Given the description of an element on the screen output the (x, y) to click on. 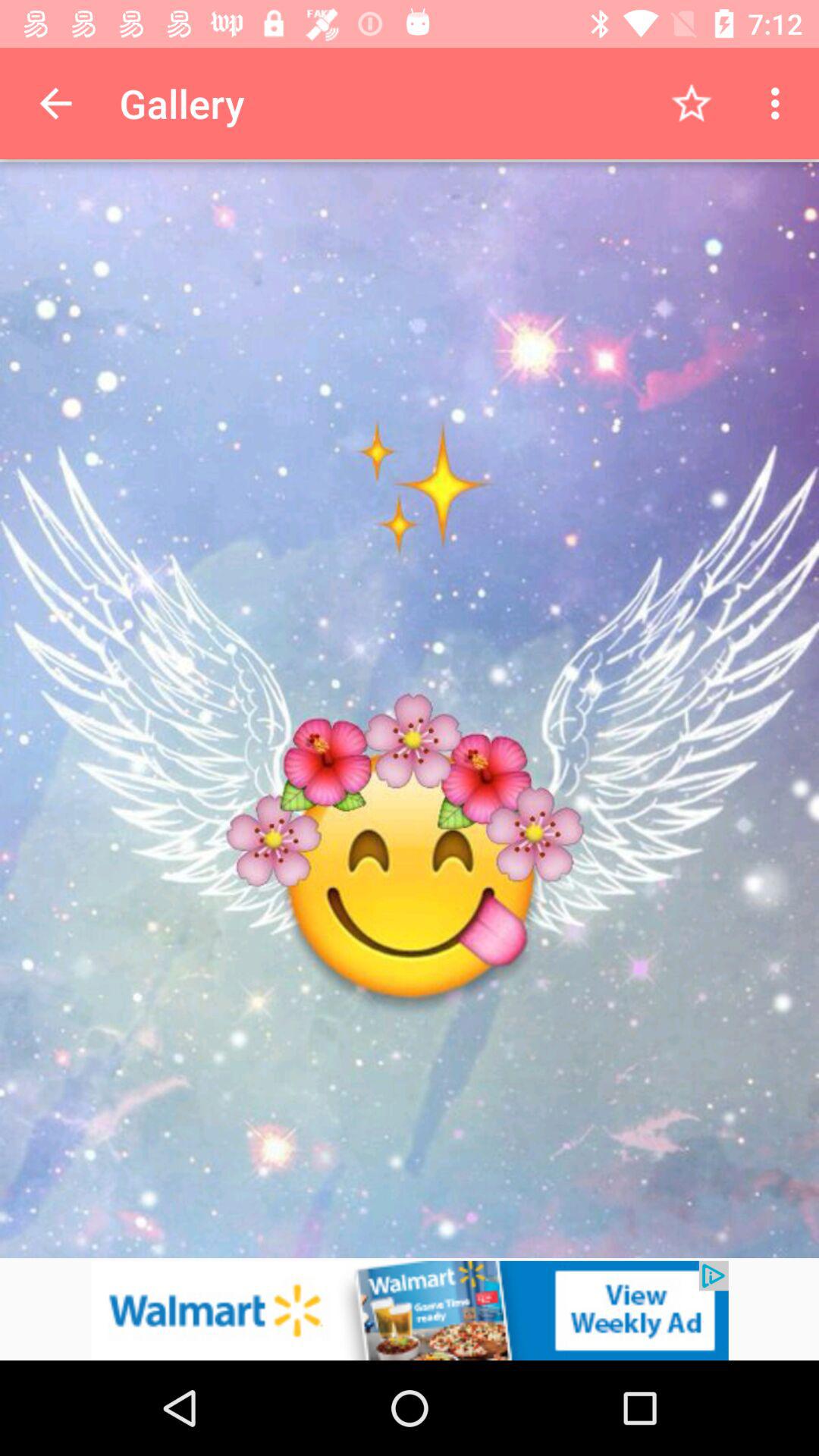
advertisement page (409, 1310)
